Given the description of an element on the screen output the (x, y) to click on. 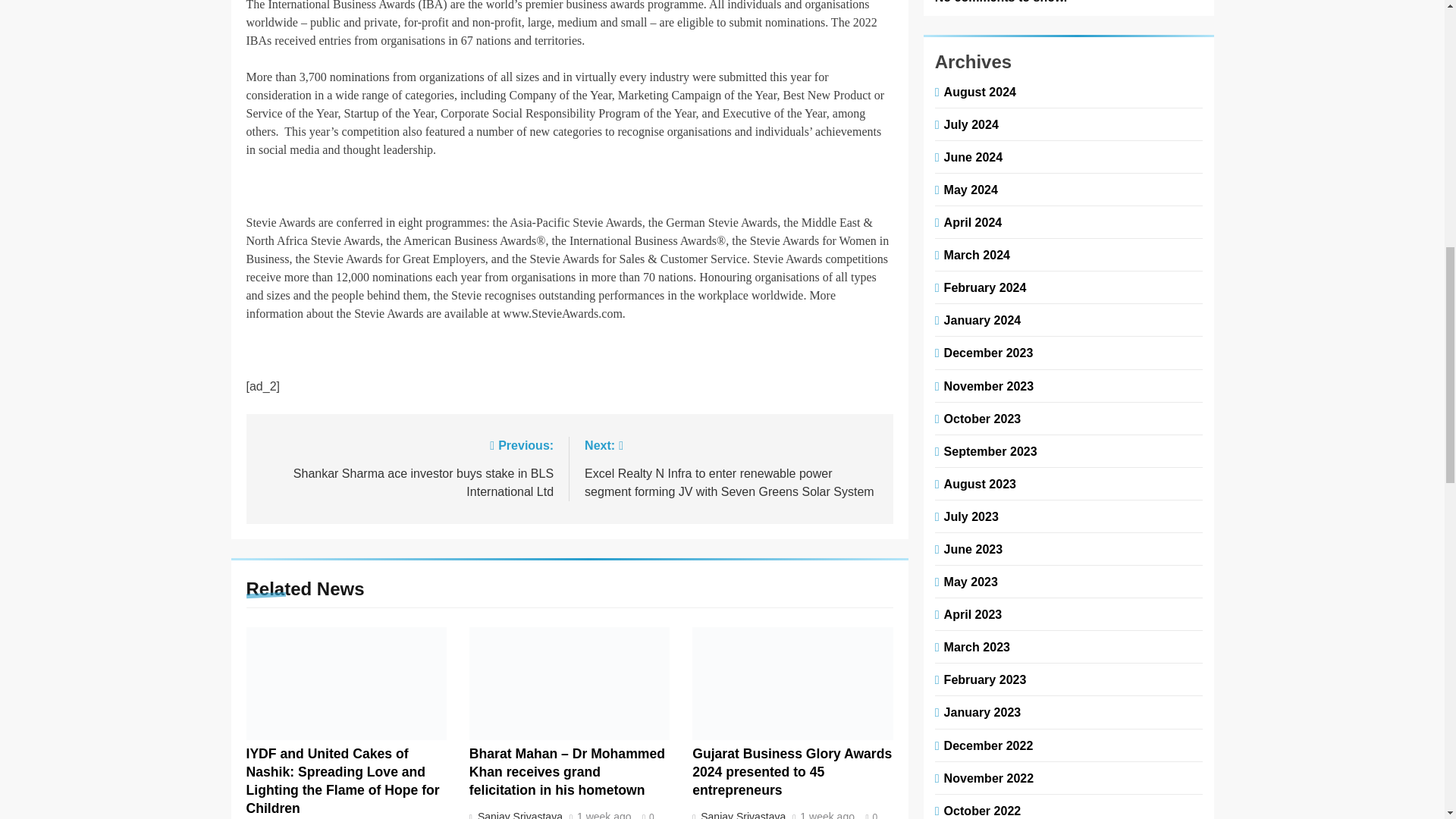
Sanjay Srivastava (741, 814)
1 week ago (826, 815)
1 week ago (603, 815)
Sanjay Srivastava (517, 814)
